Given the description of an element on the screen output the (x, y) to click on. 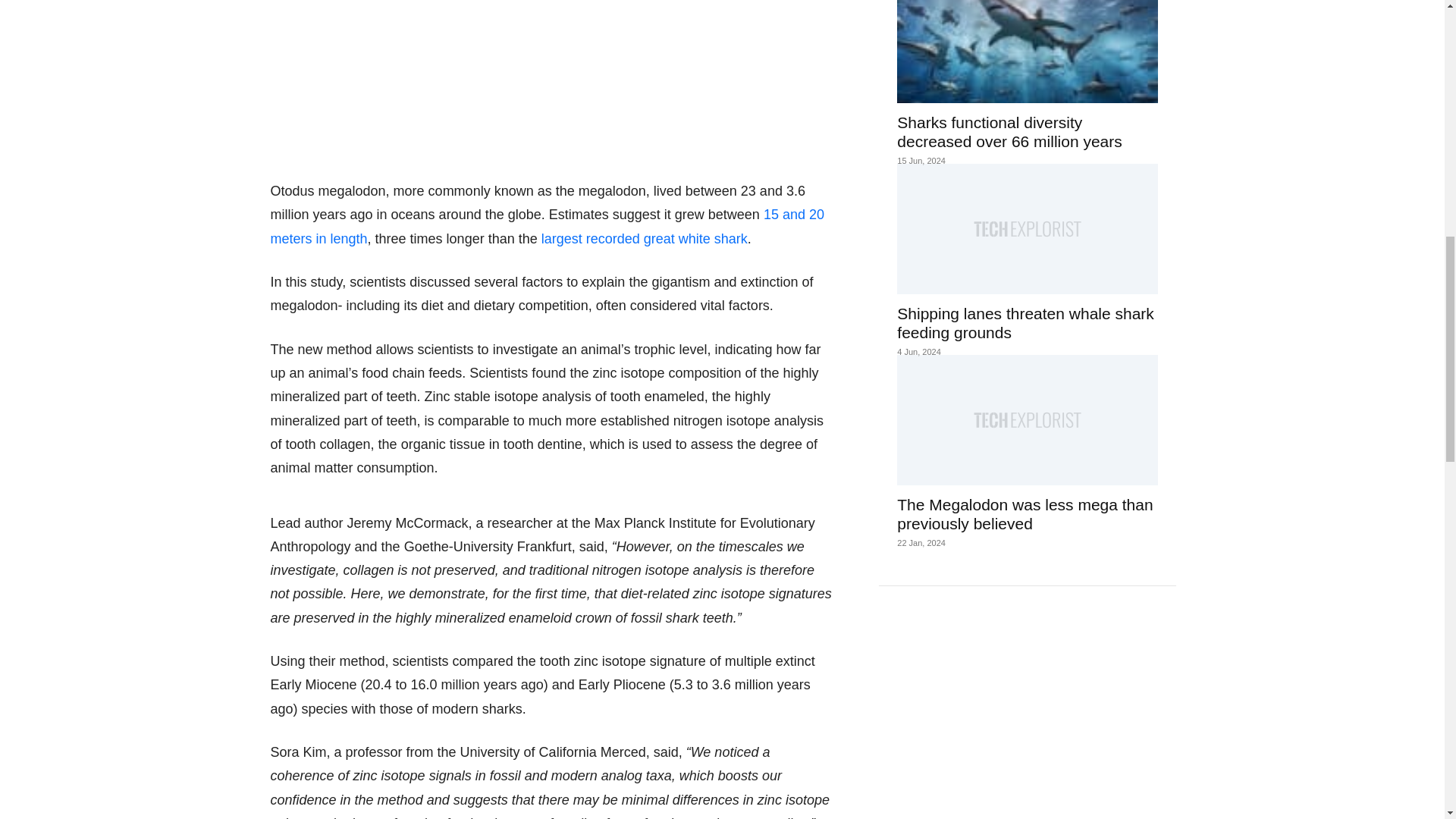
15 and 20 meters in length (546, 226)
Advertisement (553, 80)
